Given the description of an element on the screen output the (x, y) to click on. 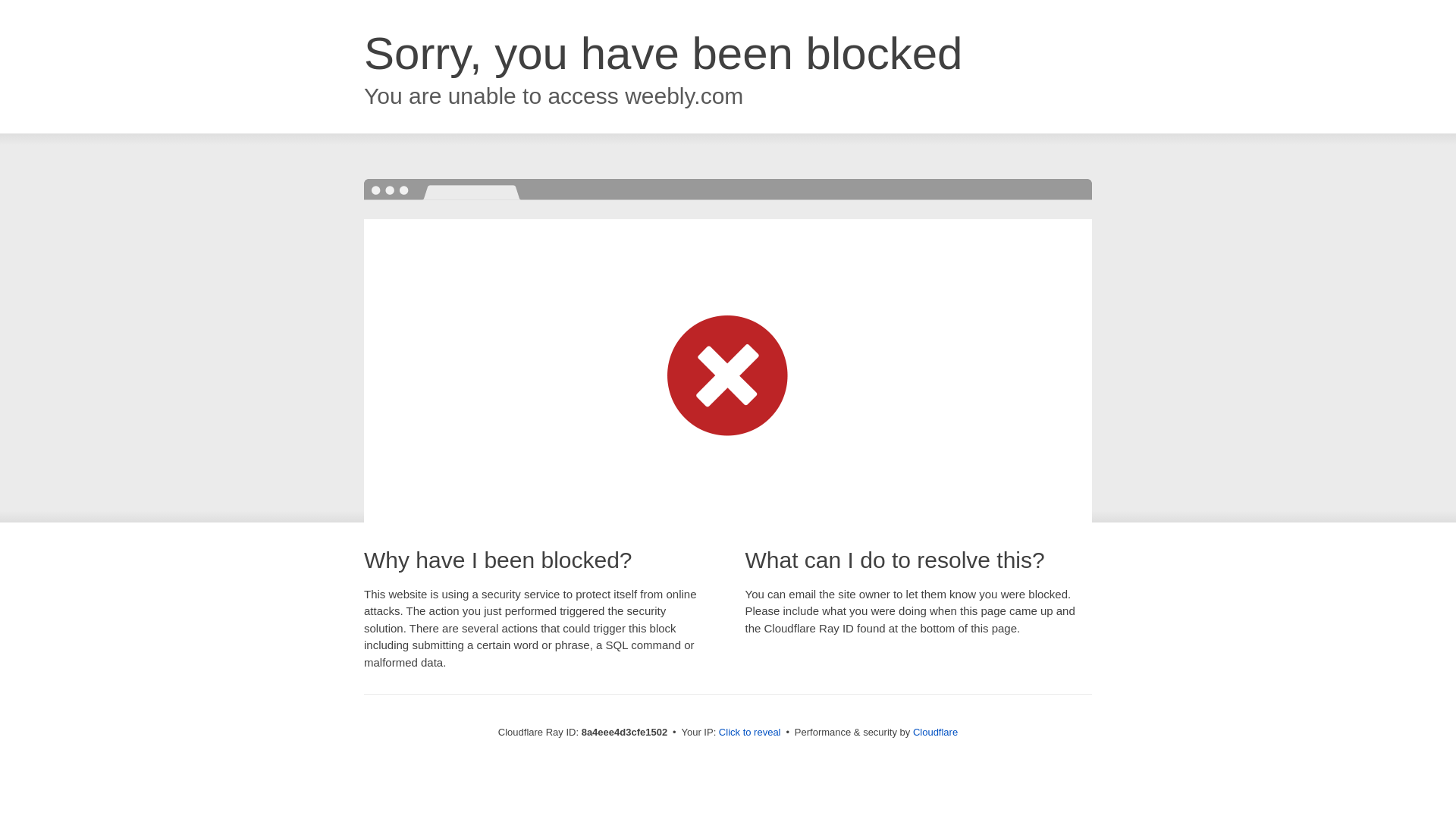
Click to reveal (749, 732)
Cloudflare (935, 731)
